Given the description of an element on the screen output the (x, y) to click on. 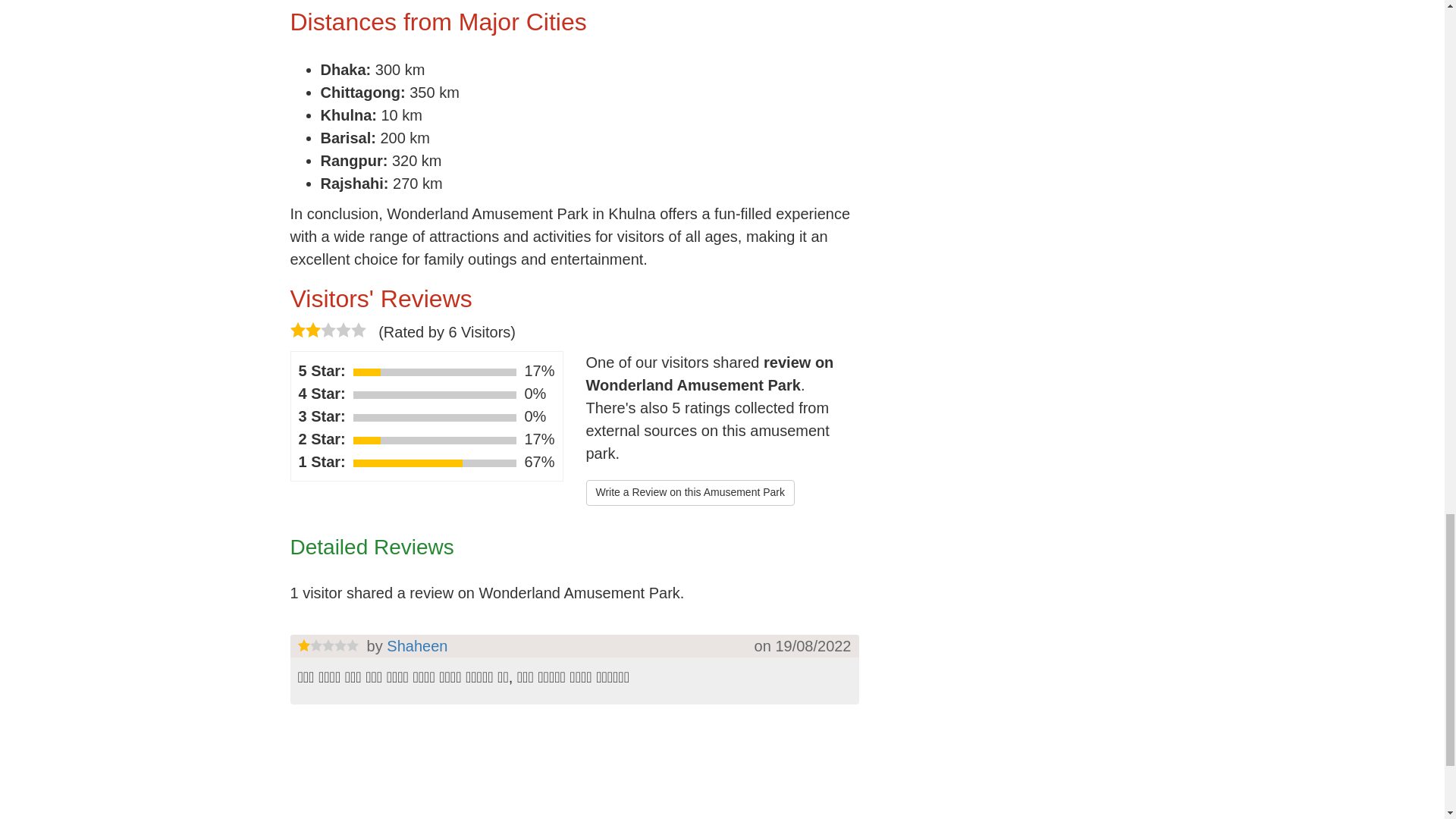
No three-star rating. (434, 417)
Total 1 five-star rating. (434, 371)
Total 1 two-star rating. (434, 440)
No four-star rating. (434, 394)
Write a Review on this Amusement Park (689, 492)
Shaheen (416, 646)
